Given the description of an element on the screen output the (x, y) to click on. 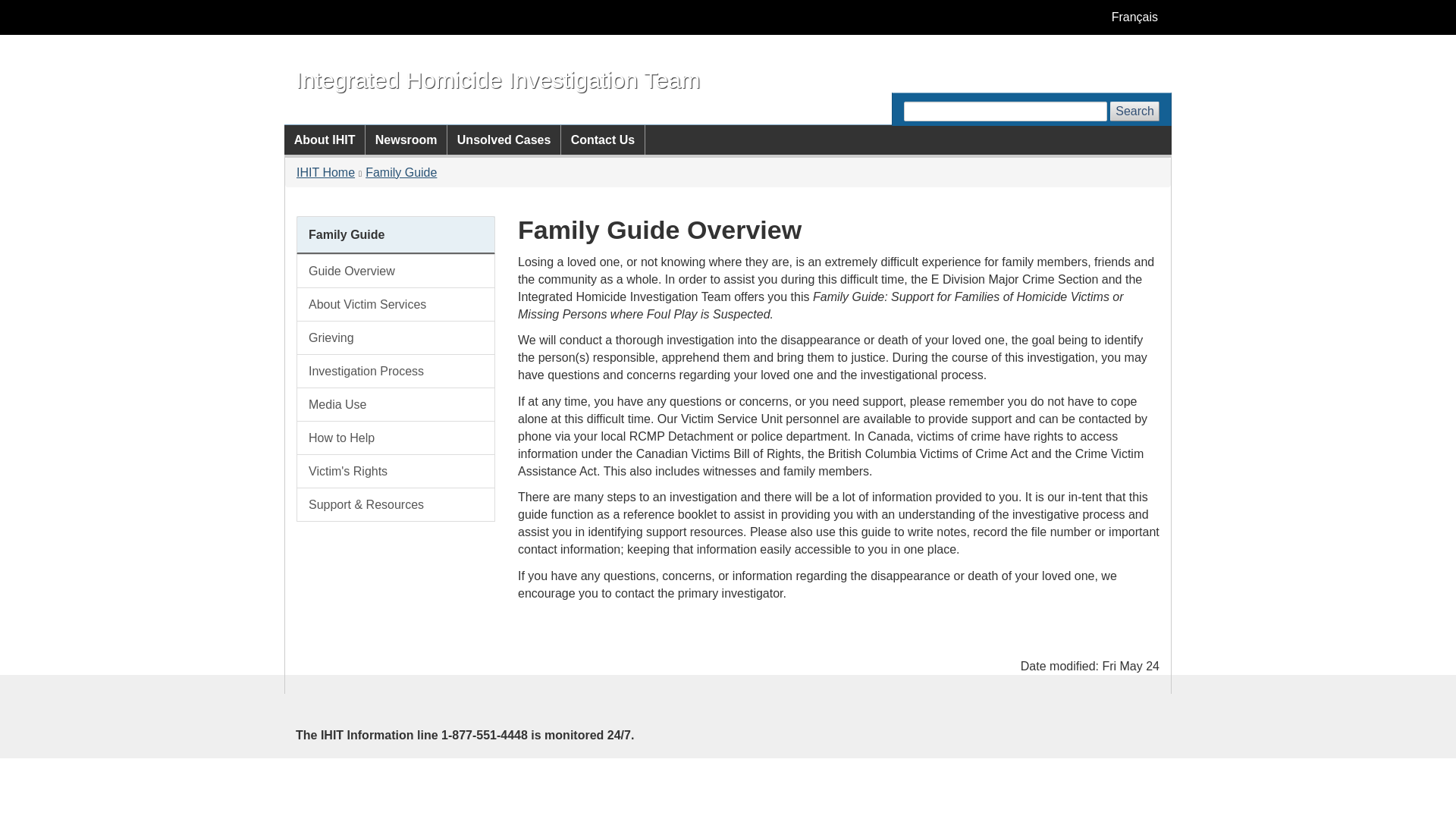
IHIT Home (326, 172)
Grieving (396, 337)
About IHIT (324, 139)
Family Guide (400, 172)
Family Guide (346, 234)
Contact Us (602, 139)
Unsolved Cases (503, 139)
Search (1133, 111)
Skip to main content (731, 11)
Guide Overview (396, 270)
Integrated Homicide Investigation Team (497, 79)
How to Help (396, 437)
Newsroom (405, 139)
Victim's Rights (396, 471)
Investigation Process (396, 370)
